Given the description of an element on the screen output the (x, y) to click on. 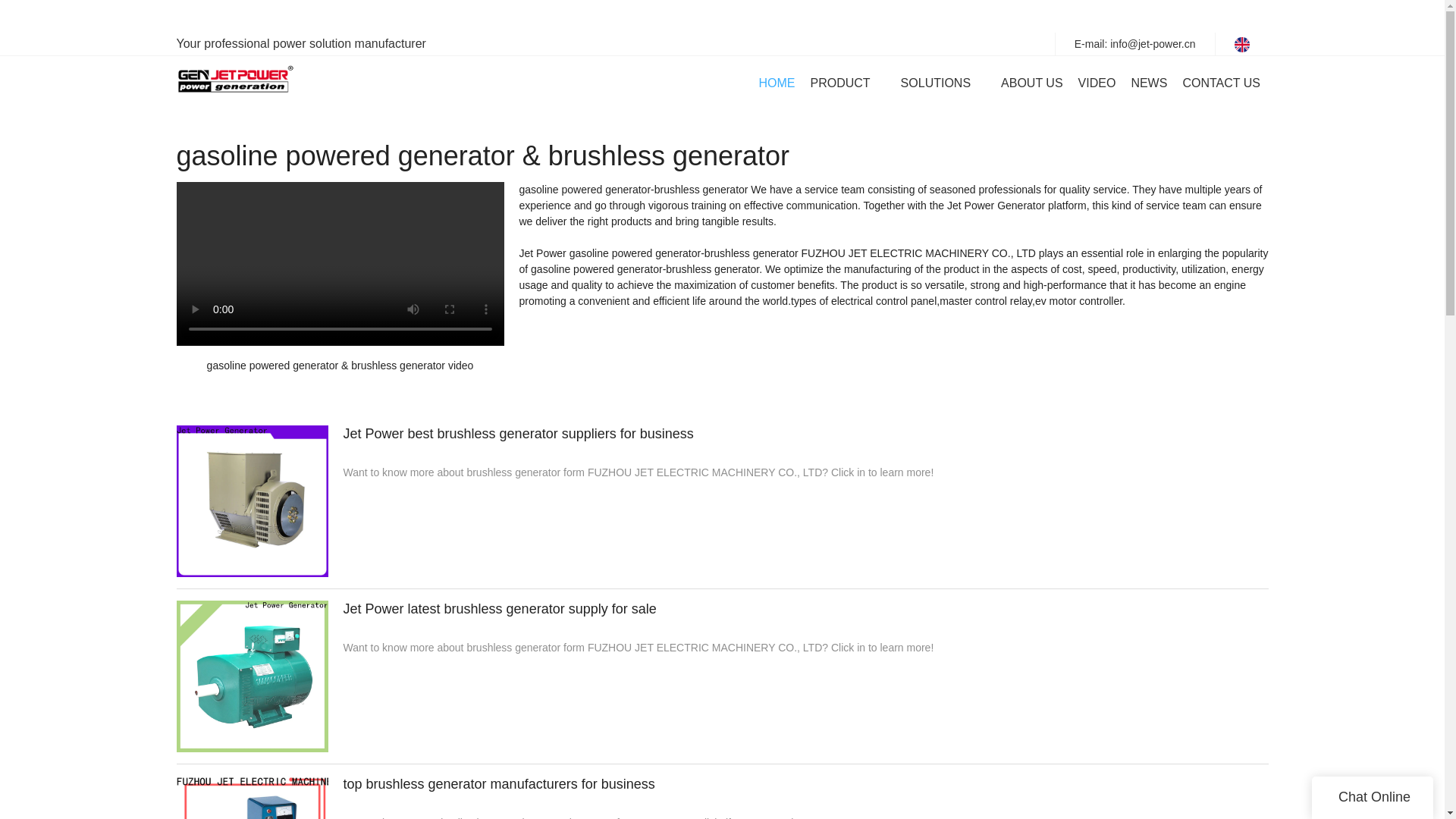
ABOUT US (1031, 82)
SOLUTIONS (936, 82)
PRODUCT (839, 82)
Home (188, 81)
VIDEO (1097, 82)
HOME (776, 82)
AI based Content Aggregation (281, 81)
NEWS (1149, 82)
